Given the description of an element on the screen output the (x, y) to click on. 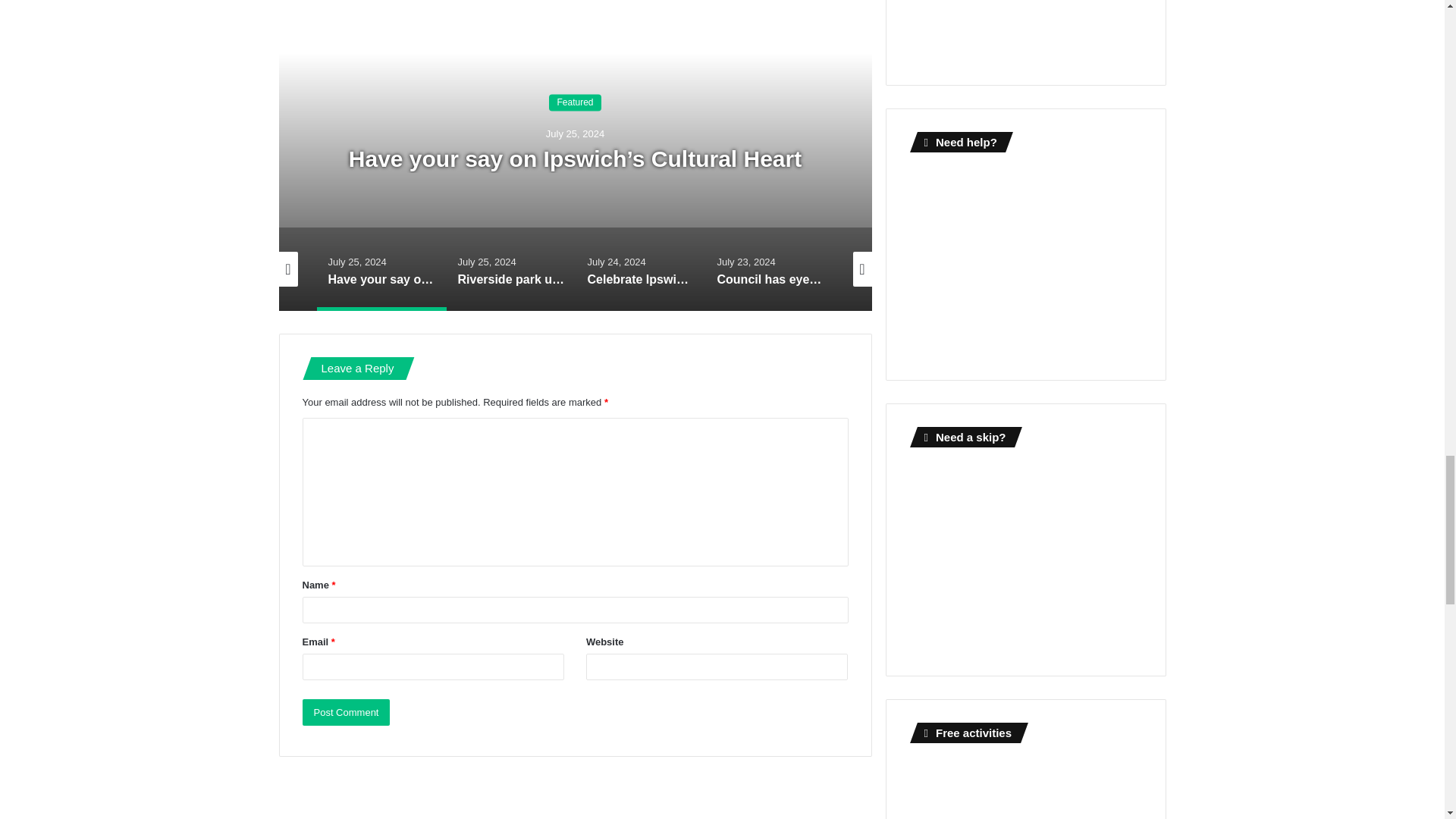
Post Comment (345, 712)
